Given the description of an element on the screen output the (x, y) to click on. 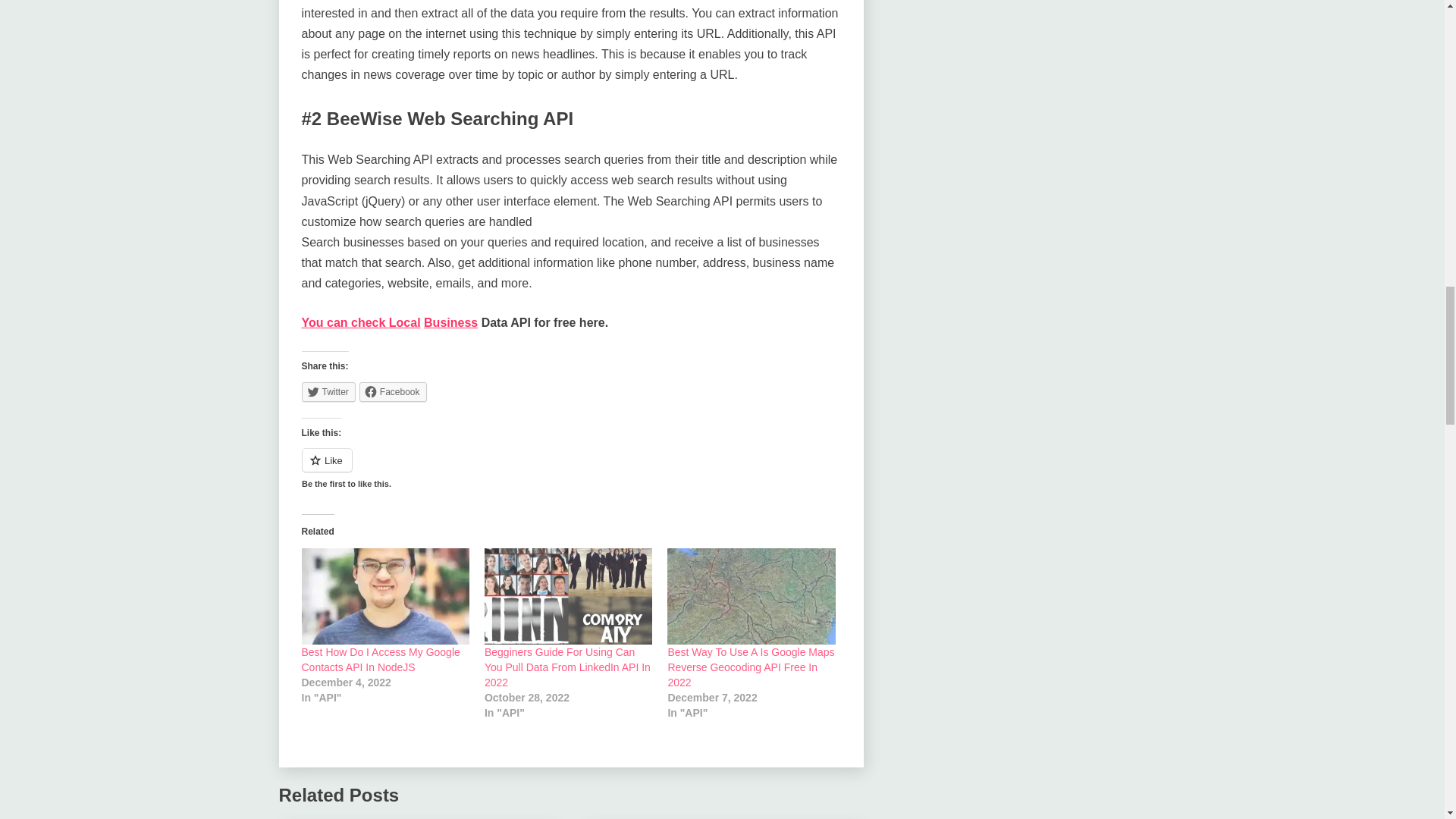
Best How Do I Access My Google Contacts API In NodeJS (380, 659)
Best How Do I Access My Google Contacts API In NodeJS (380, 659)
Like or Reblog (571, 468)
Click to share on Twitter (328, 392)
Business (450, 322)
Twitter (328, 392)
Local (404, 322)
Facebook (392, 392)
You can check (344, 322)
Best How Do I Access My Google Contacts API In NodeJS (384, 595)
